Given the description of an element on the screen output the (x, y) to click on. 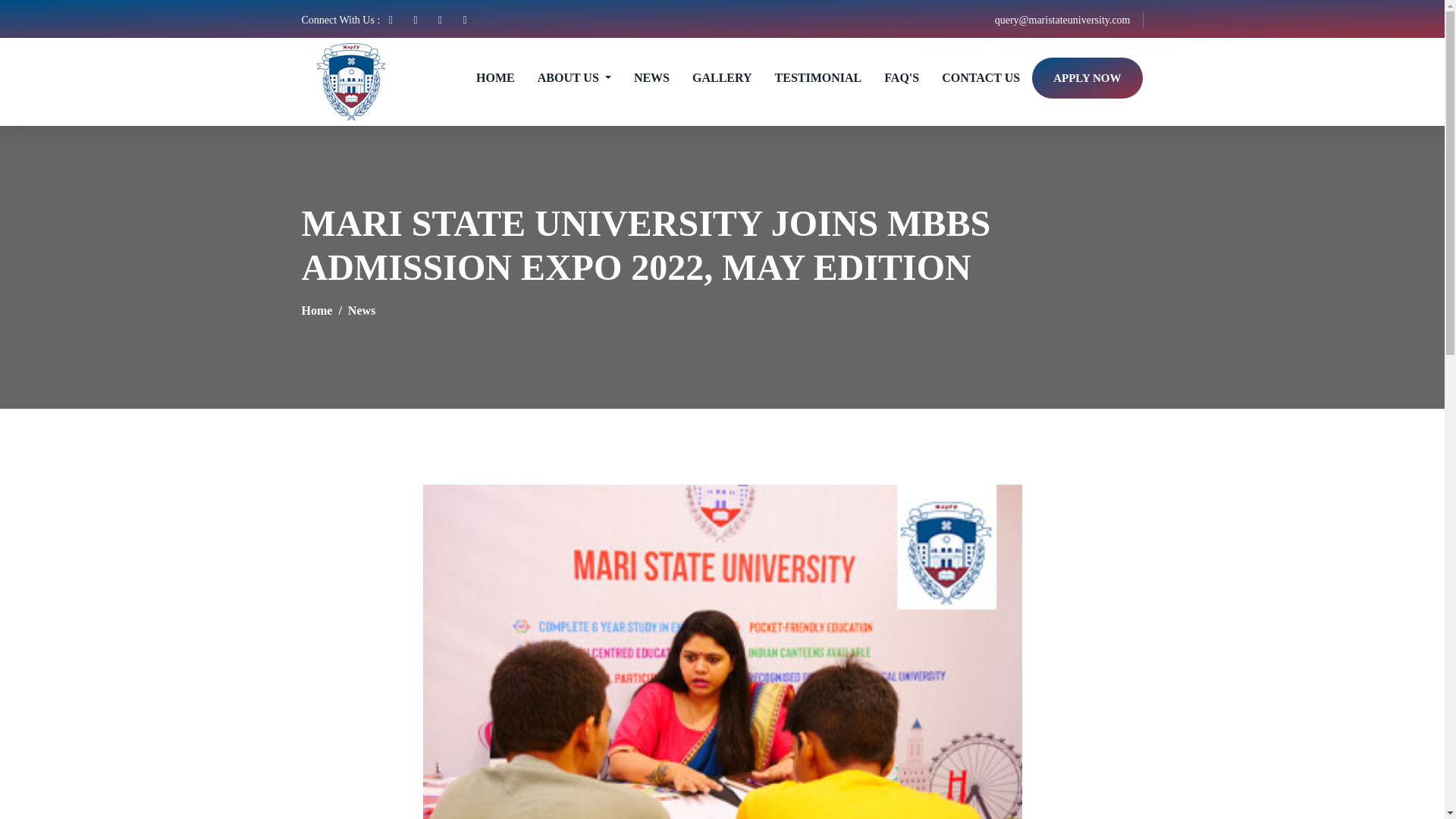
Home (317, 309)
GALLERY (721, 77)
TESTIMONIAL (817, 77)
ABOUT US (574, 77)
News (361, 309)
CONTACT US (980, 77)
APPLY NOW (1086, 77)
